Given the description of an element on the screen output the (x, y) to click on. 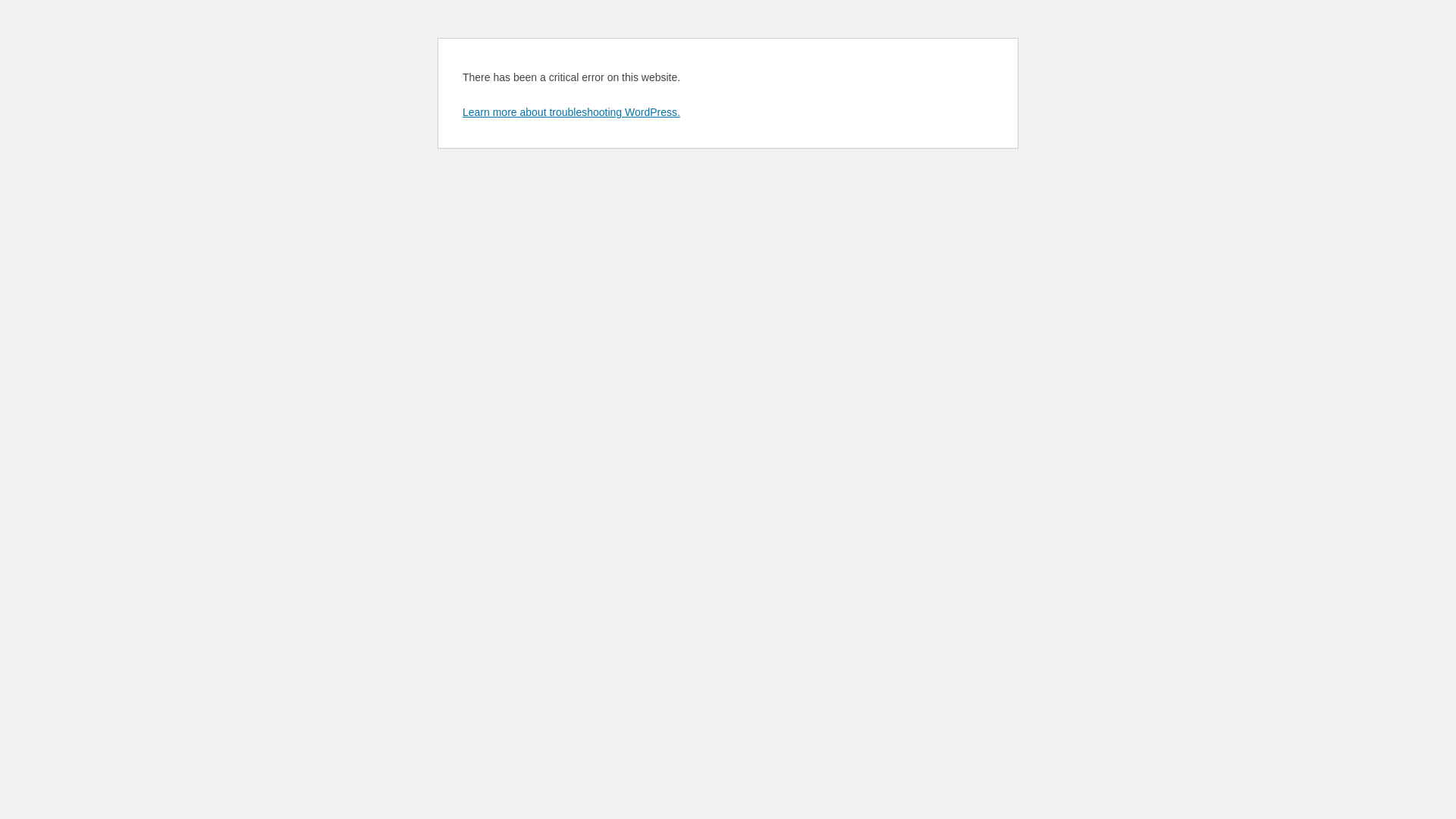
Learn more about troubleshooting WordPress. Element type: text (571, 112)
